Given the description of an element on the screen output the (x, y) to click on. 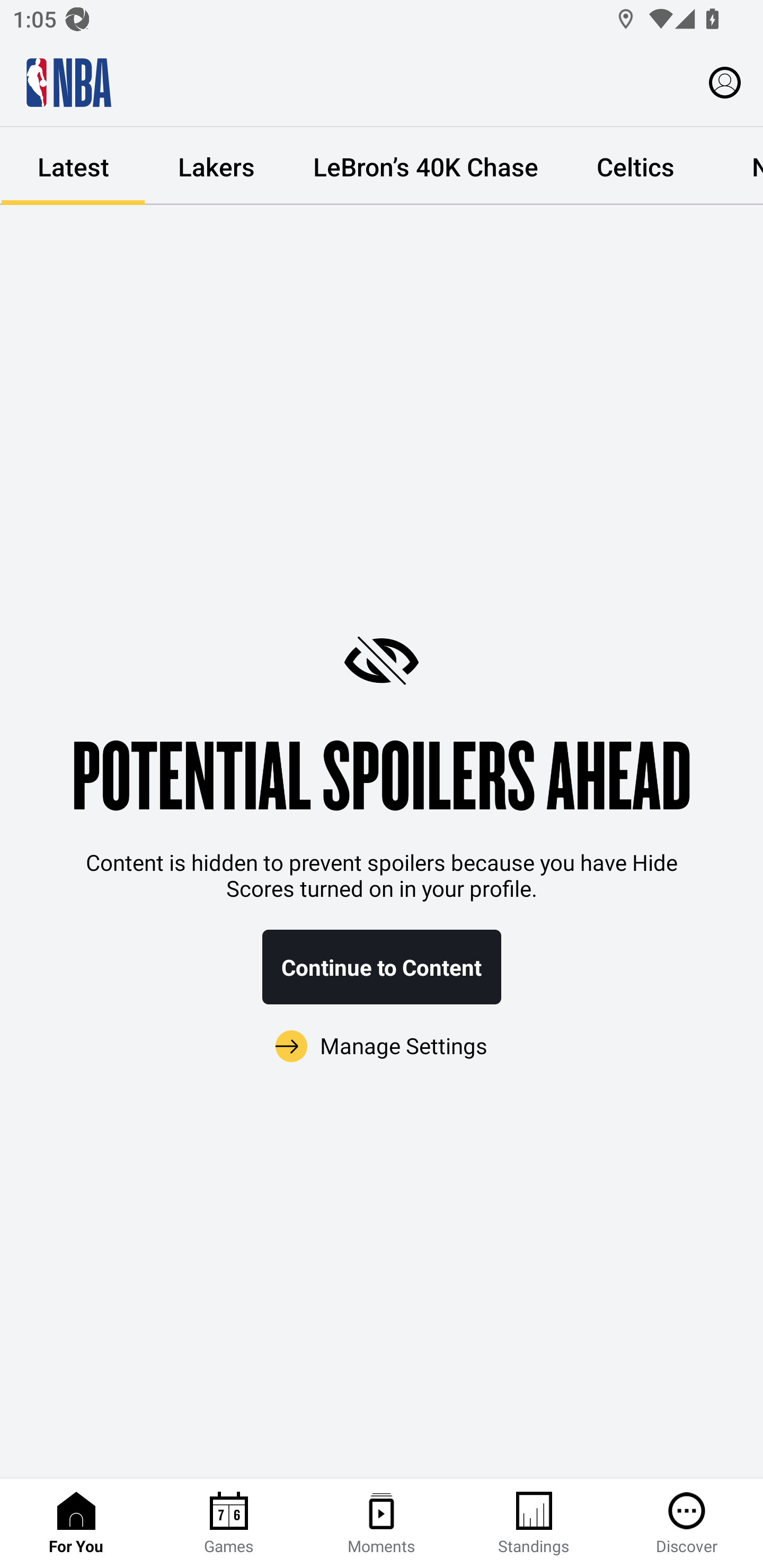
Profile (724, 81)
Lakers (215, 166)
LeBron’s 40K Chase (425, 166)
Celtics (634, 166)
Continue to Content (381, 967)
Manage Settings (381, 1046)
Games (228, 1523)
Moments (381, 1523)
Standings (533, 1523)
Discover (686, 1523)
